Given the description of an element on the screen output the (x, y) to click on. 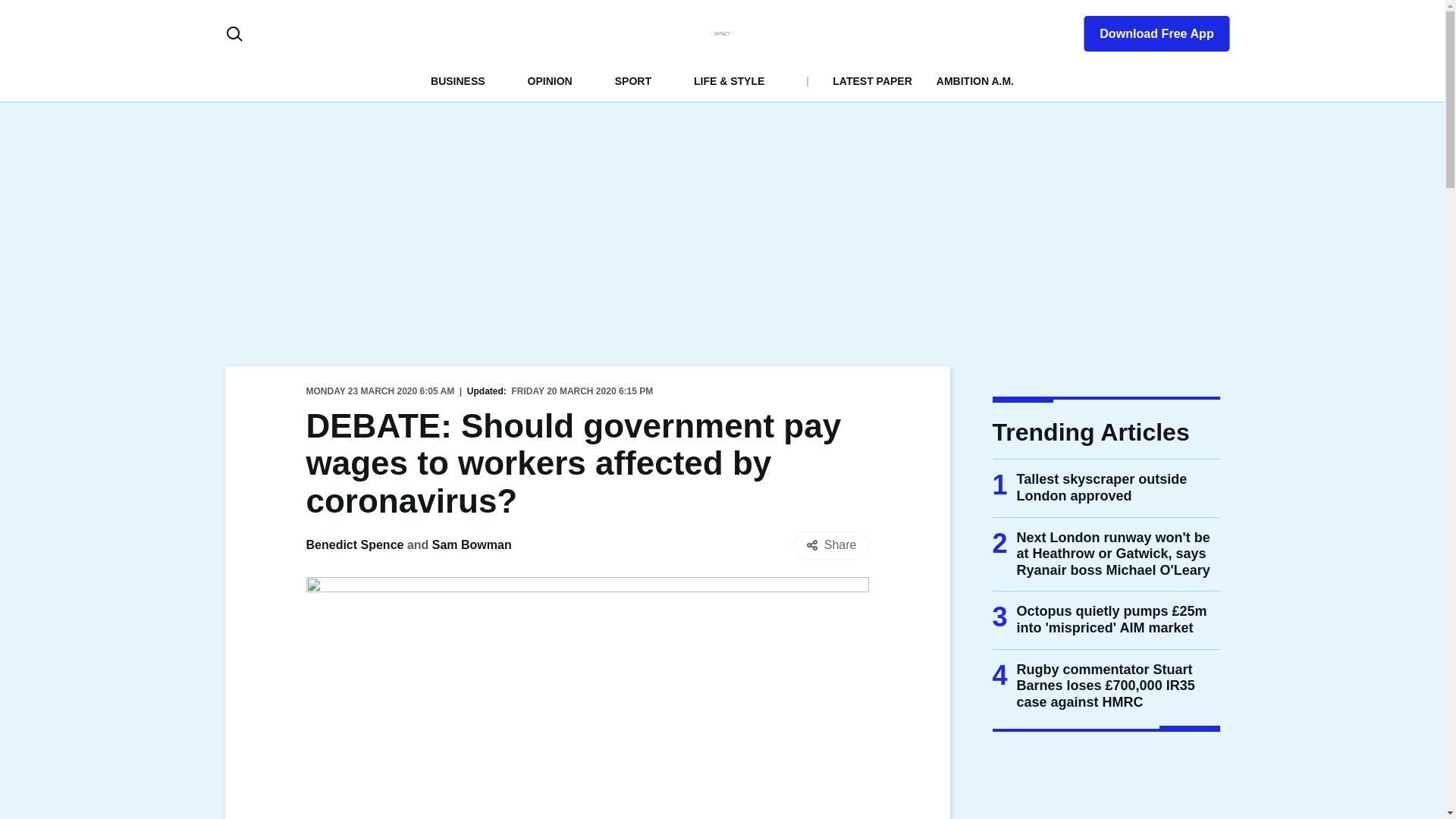
CityAM (721, 33)
Download Free App (1146, 30)
SPORT (632, 80)
OPINION (549, 80)
BUSINESS (457, 80)
